Given the description of an element on the screen output the (x, y) to click on. 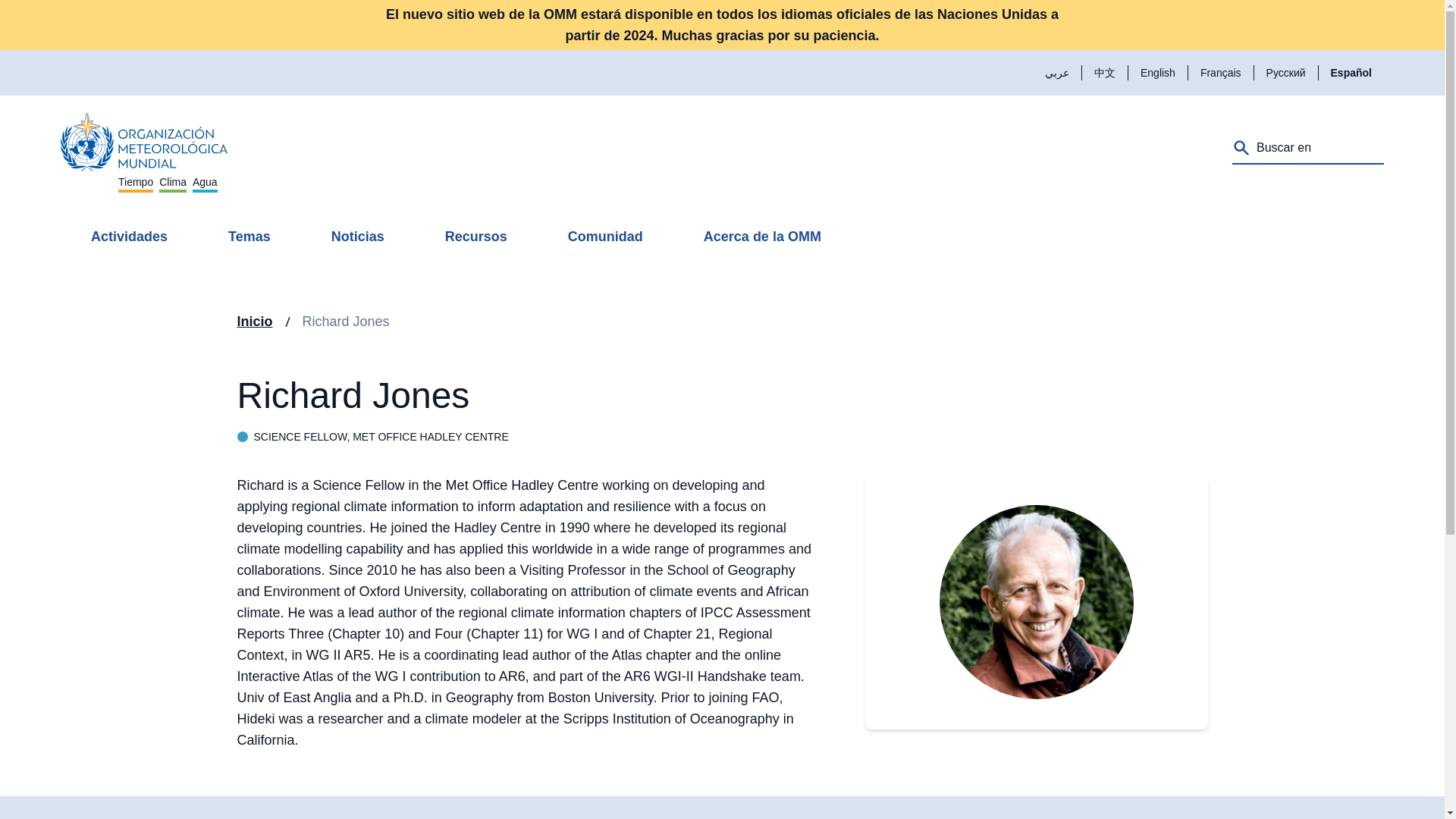
Temas (249, 236)
Recursos (475, 236)
Actividades (129, 236)
Noticias (357, 236)
English (144, 148)
Comunidad (1157, 72)
Buscar en (604, 236)
